Given the description of an element on the screen output the (x, y) to click on. 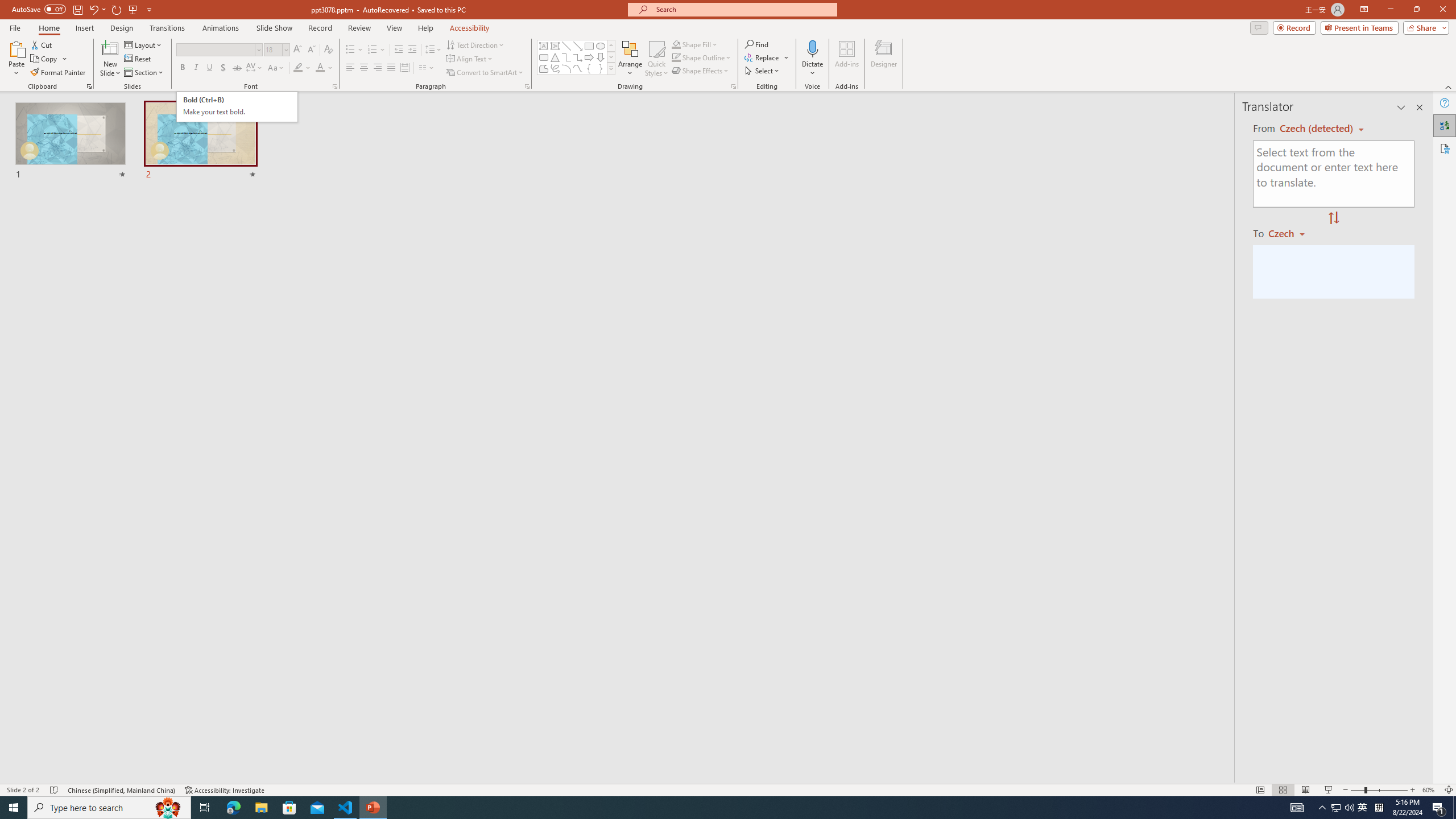
Arrow: Right (589, 57)
Increase Indent (412, 49)
Justify (390, 67)
Shadow (223, 67)
Underline (209, 67)
Connector: Elbow Arrow (577, 57)
